Given the description of an element on the screen output the (x, y) to click on. 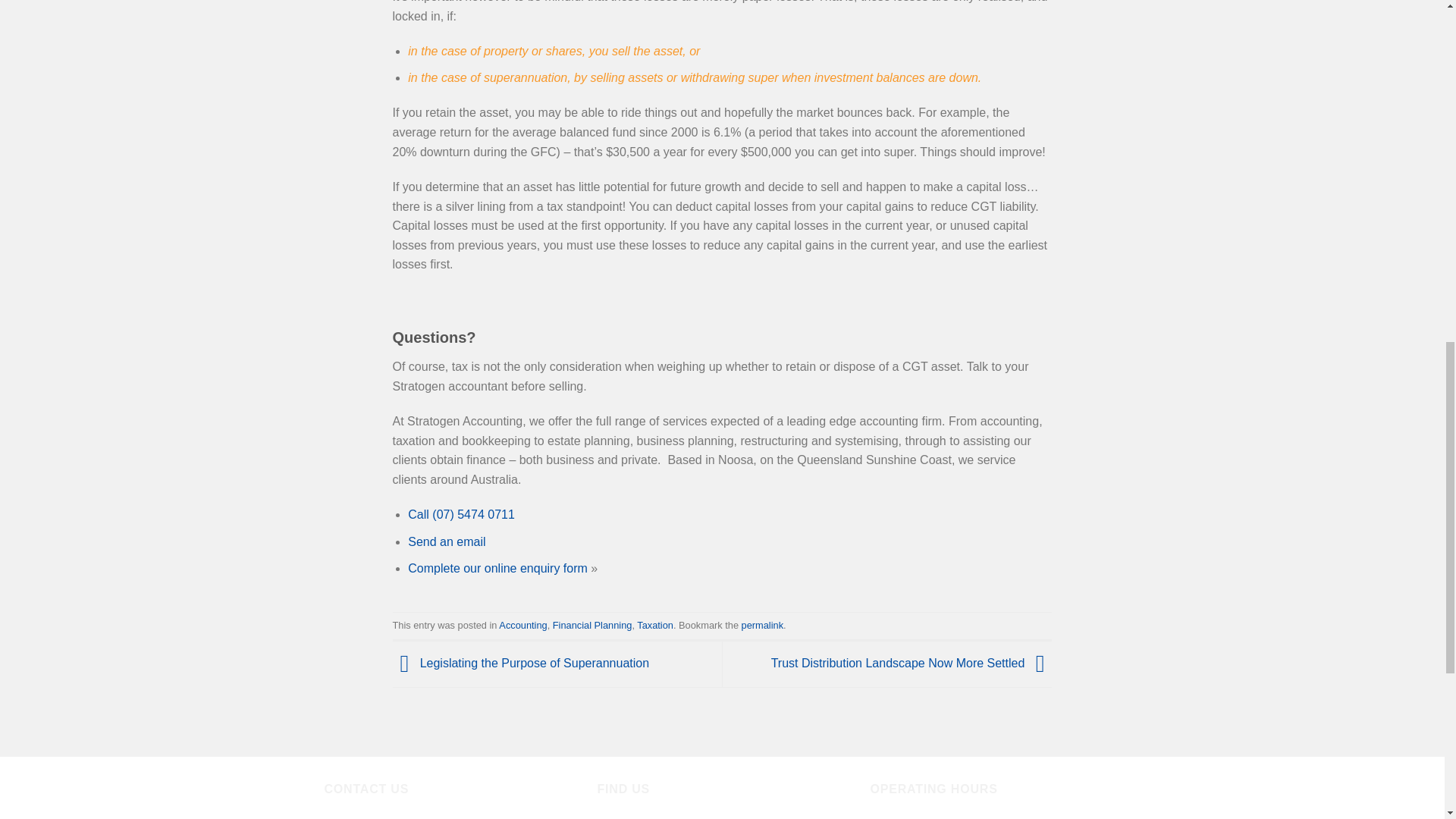
Taxation (654, 624)
Financial Planning (592, 624)
Permalink to Crystalising Capital Losses (762, 624)
Accounting (523, 624)
Complete our online enquiry form (497, 567)
Legislating the Purpose of Superannuation (521, 662)
Trust Distribution Landscape Now More Settled (911, 662)
Send an email (445, 541)
permalink (762, 624)
